Given the description of an element on the screen output the (x, y) to click on. 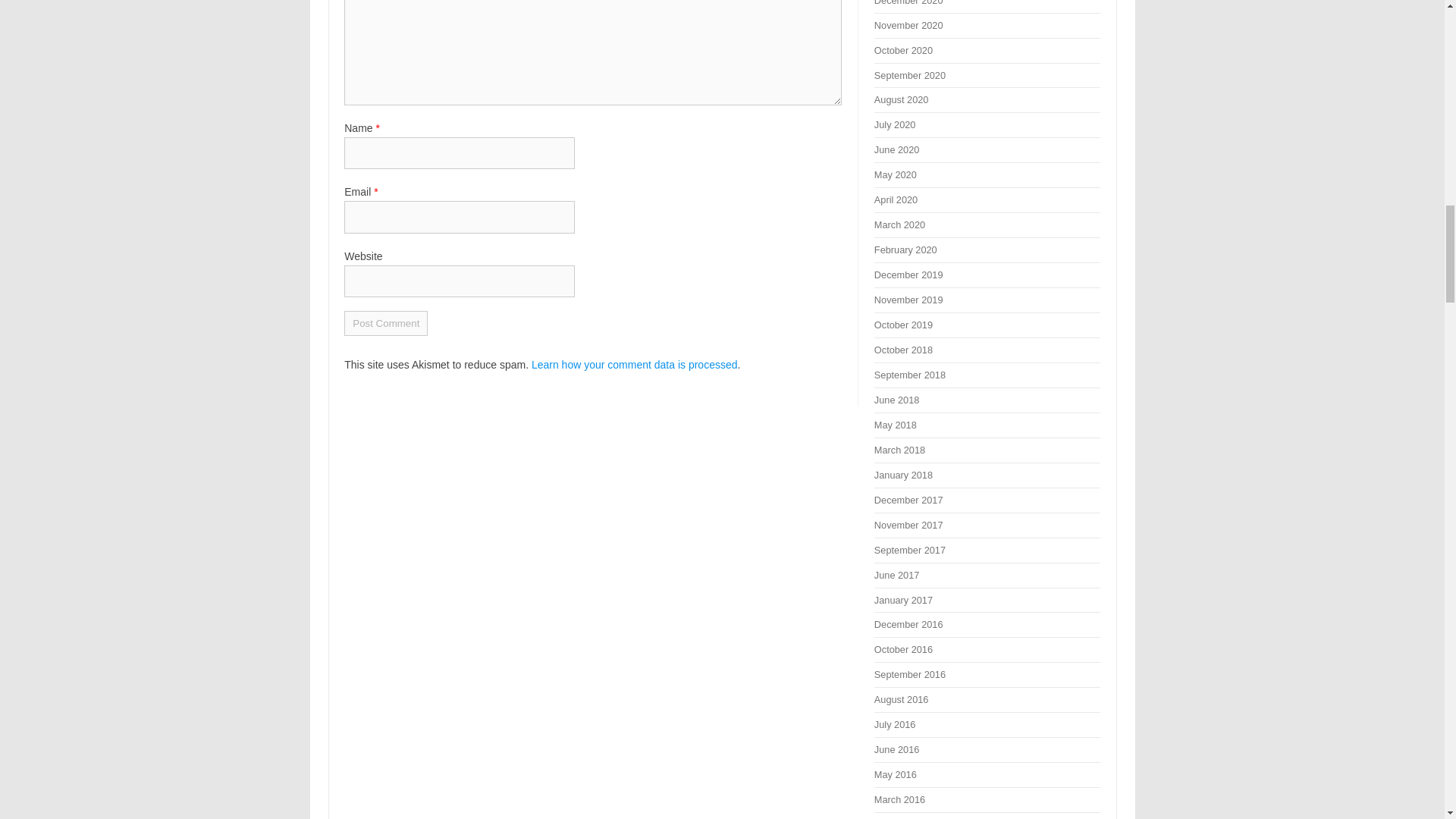
Post Comment (385, 323)
Post Comment (385, 323)
Learn how your comment data is processed (634, 364)
